Given the description of an element on the screen output the (x, y) to click on. 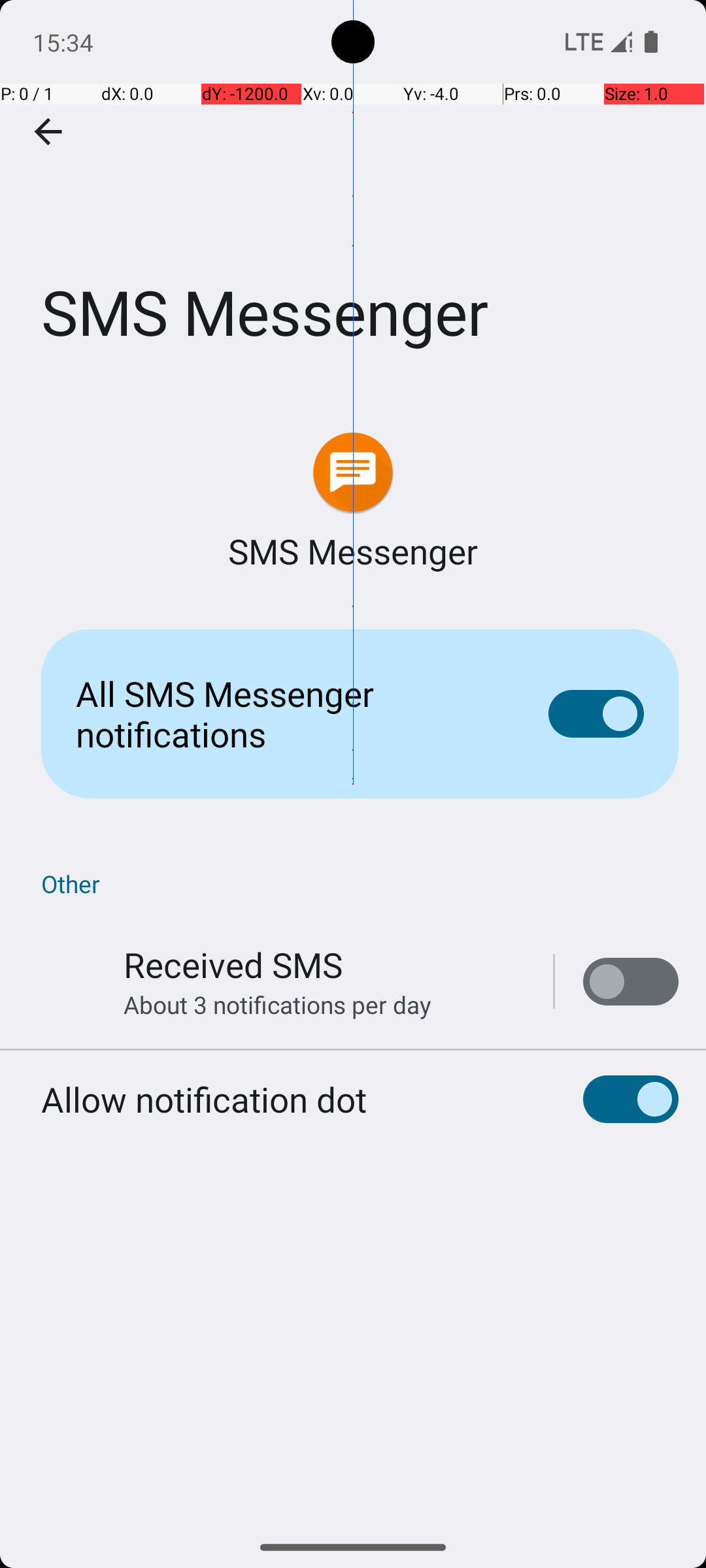
All SMS Messenger notifications Element type: android.widget.TextView (291, 713)
Received SMS Element type: android.widget.TextView (232, 964)
About 3 notifications per day Element type: android.widget.TextView (277, 1004)
Allow notification dot Element type: android.widget.TextView (203, 1099)
